Given the description of an element on the screen output the (x, y) to click on. 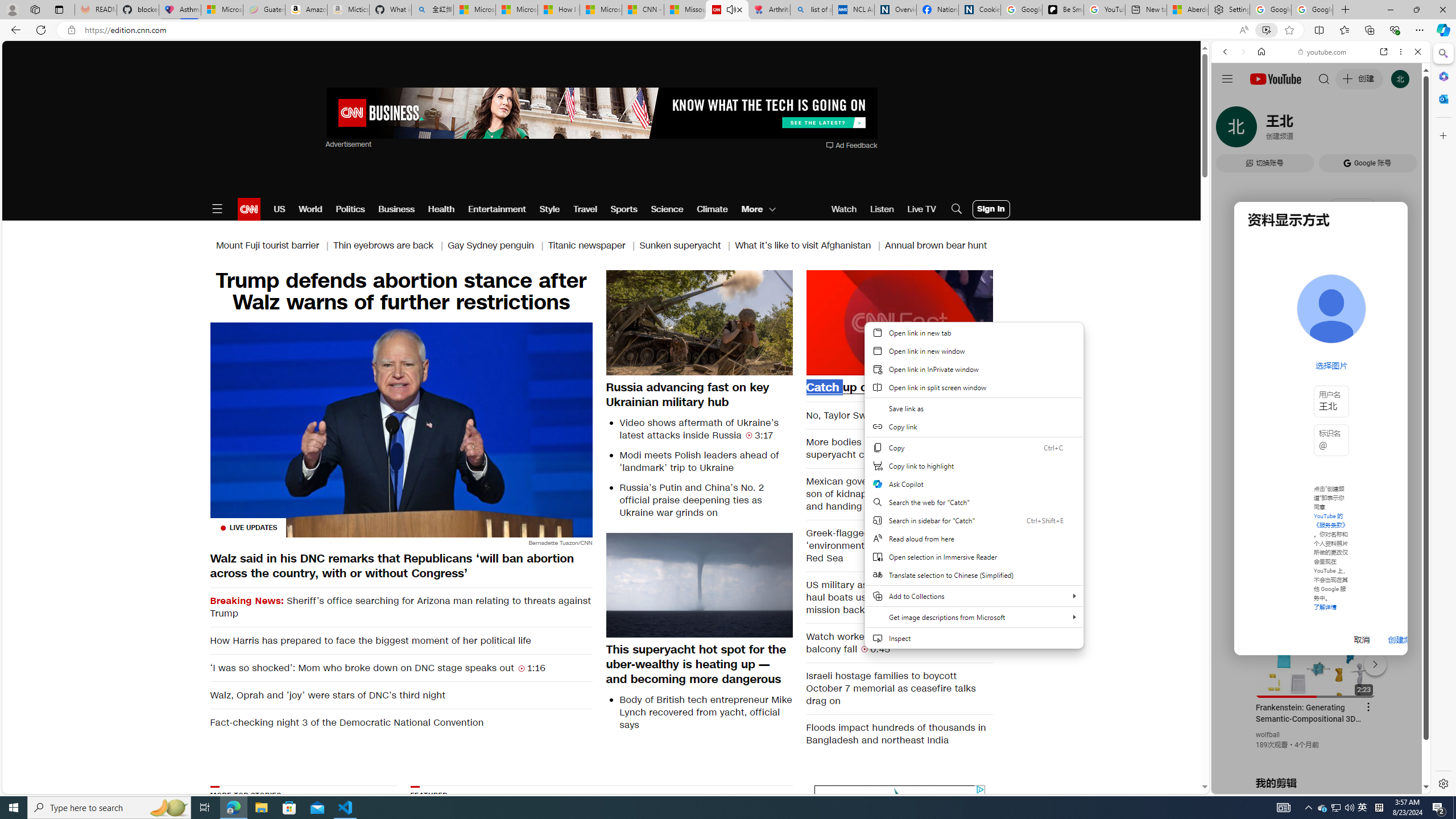
Cookies (979, 9)
Breaking News, Latest News and Videos | CNN - Audio playing (726, 9)
Translate selection to Chinese (Simplified) (973, 574)
Options (952, 365)
Arthritis: Ask Health Professionals (769, 9)
Health (441, 209)
Search videos from youtube.com (1299, 373)
